Given the description of an element on the screen output the (x, y) to click on. 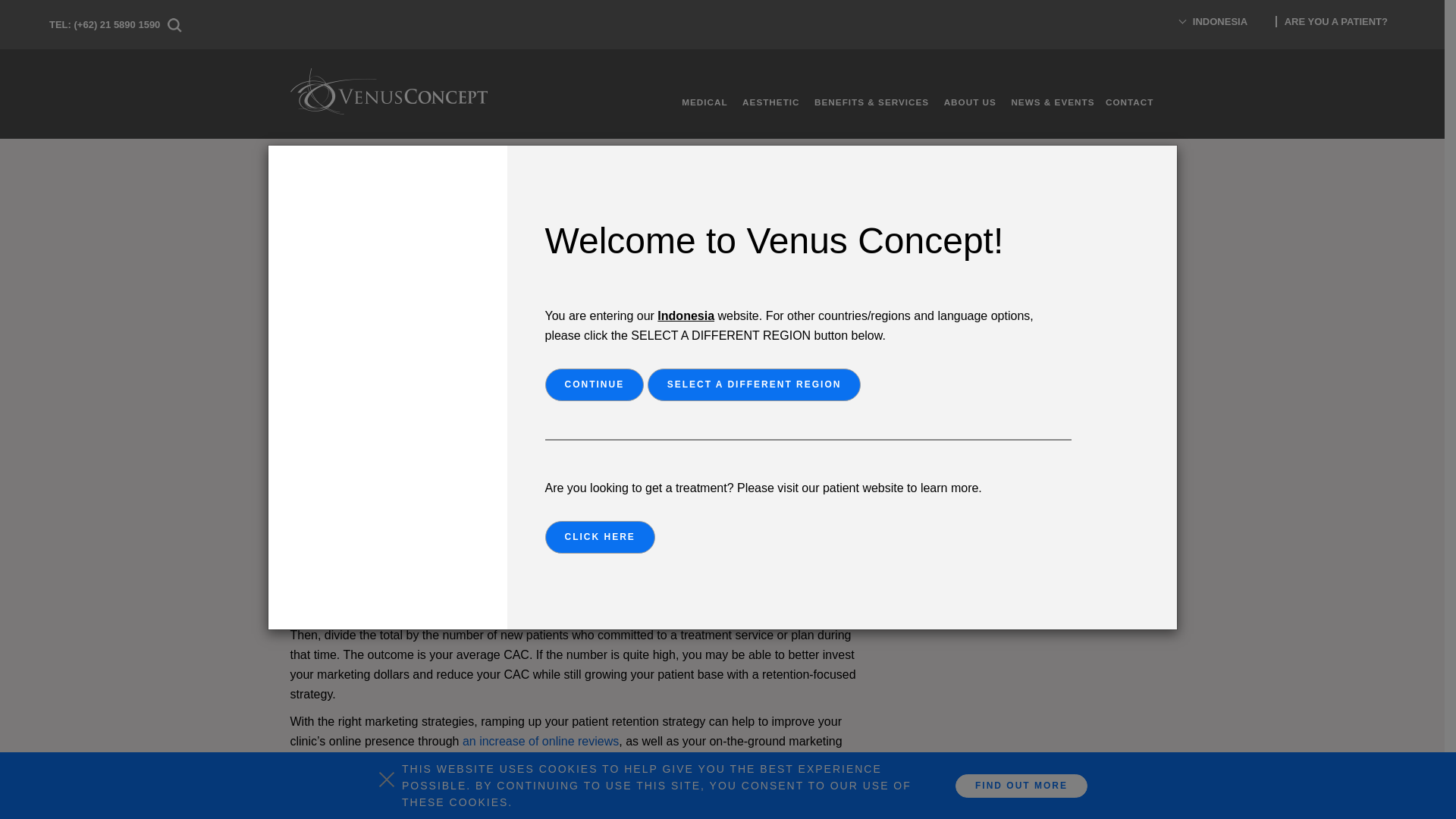
Enter a search term (1004, 301)
MEDICAL (697, 101)
INDONESIA (1220, 28)
AESTHETIC (764, 101)
ARE YOU A PATIENT? (1335, 21)
